Given the description of an element on the screen output the (x, y) to click on. 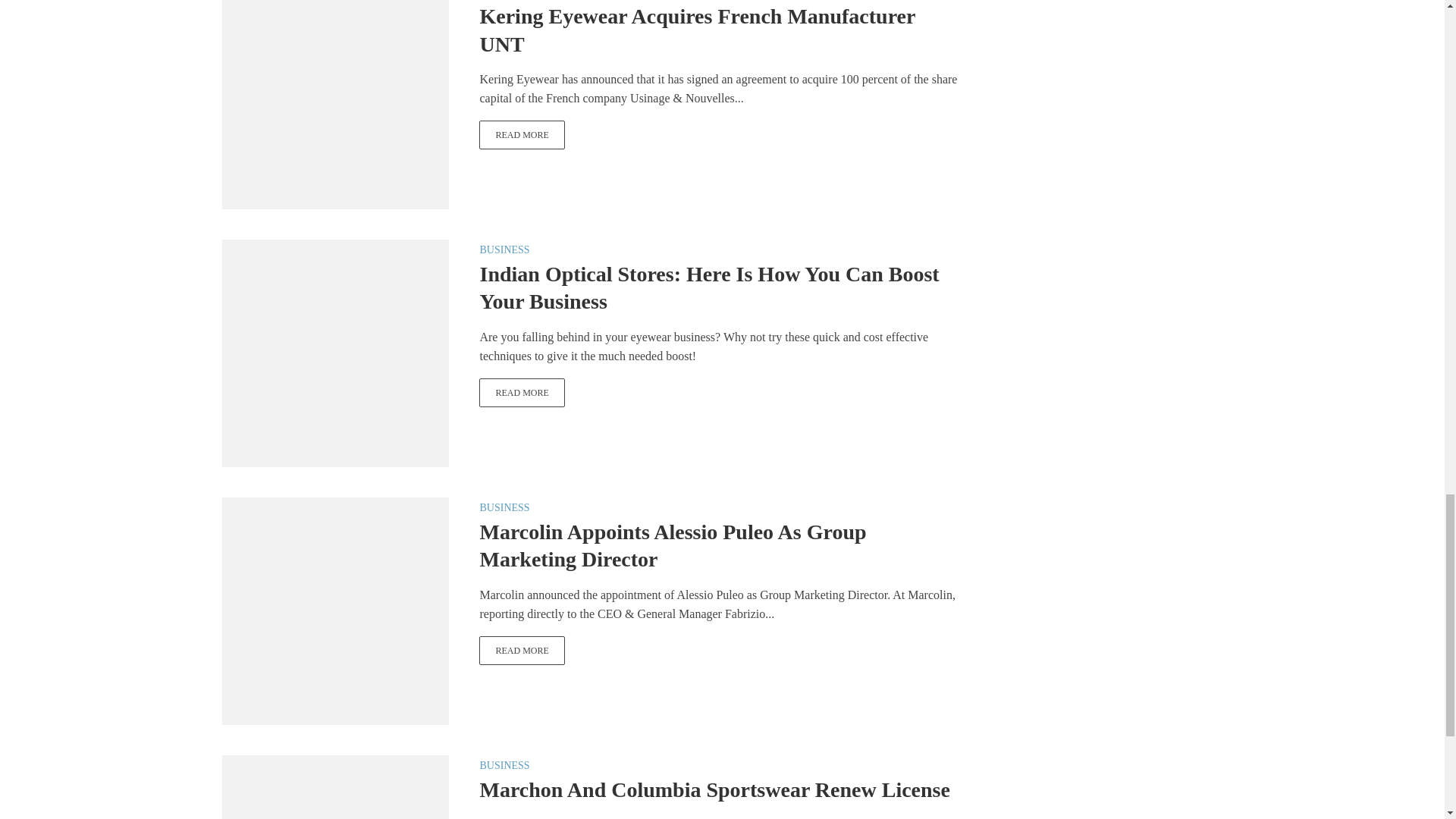
Kering Eyewear Acquires French Manufacturer UNT (334, 93)
Marcolin Appoints Alessio Puleo As Group Marketing Director (334, 609)
Marcolin Appoints Alessio Puleo As Group Marketing Director (521, 650)
Kering Eyewear Acquires French Manufacturer UNT (521, 134)
